Given the description of an element on the screen output the (x, y) to click on. 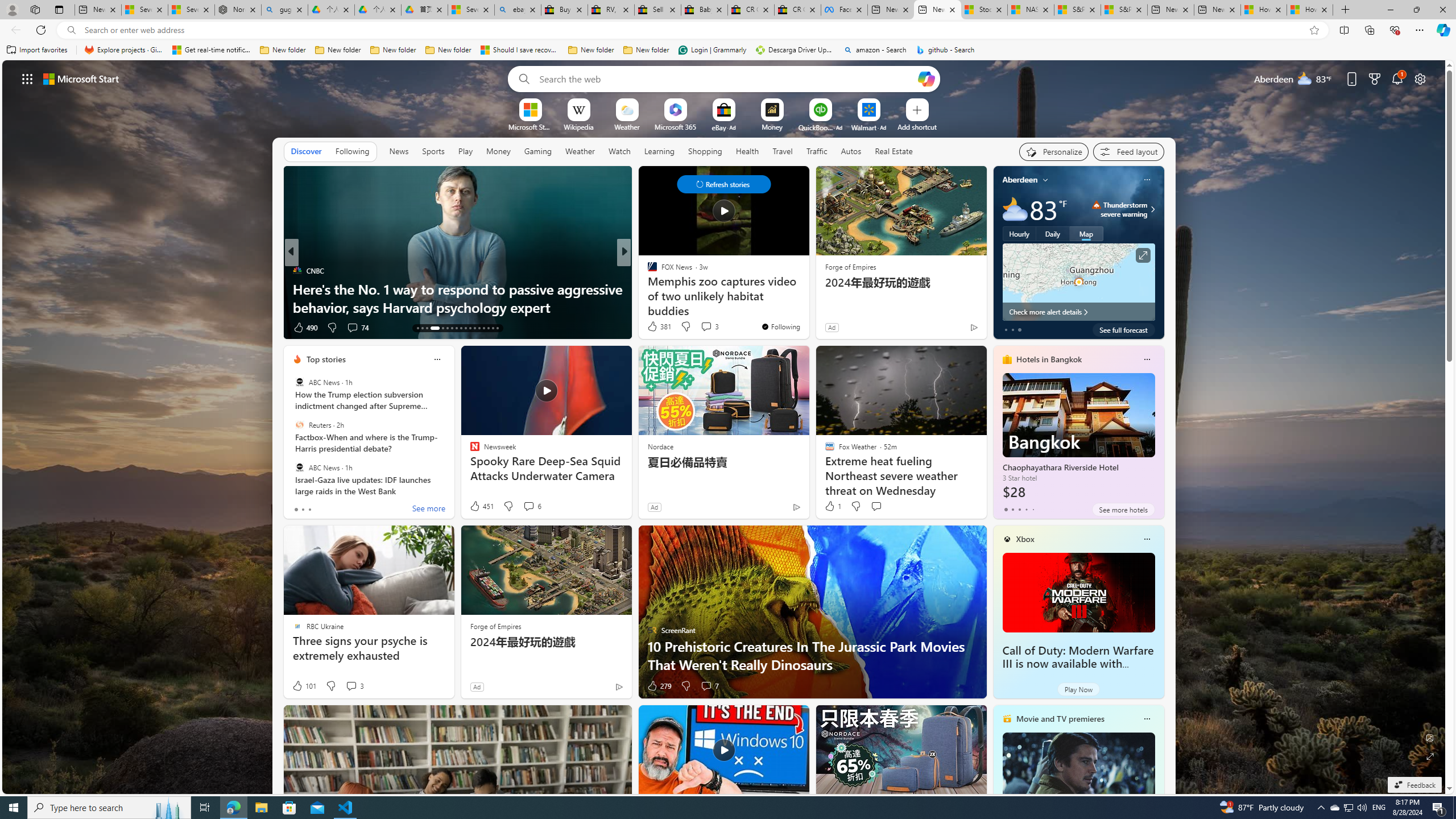
AutomationID: tab-20 (456, 328)
View comments 7 Comment (705, 685)
AutomationID: tab-14 (422, 328)
Page settings (1420, 78)
279 Like (658, 685)
View comments 1 Comment (702, 327)
3 Like (651, 327)
Learning (659, 151)
View comments 100 Comment (698, 327)
451 Like (480, 505)
